Given the description of an element on the screen output the (x, y) to click on. 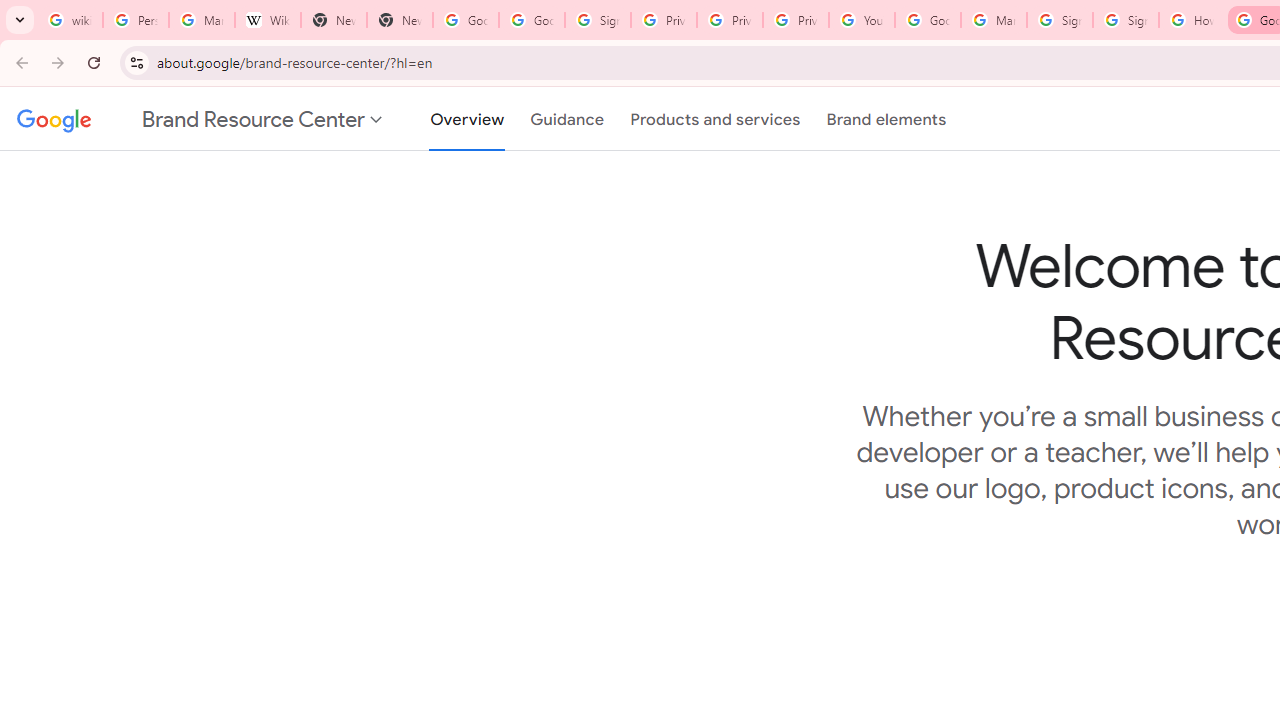
Personalization & Google Search results - Google Search Help (135, 20)
Products and services (715, 119)
New Tab (399, 20)
Brand elements (886, 119)
New Tab (333, 20)
Sign in - Google Accounts (1125, 20)
Sign in - Google Accounts (1059, 20)
YouTube (861, 20)
